Given the description of an element on the screen output the (x, y) to click on. 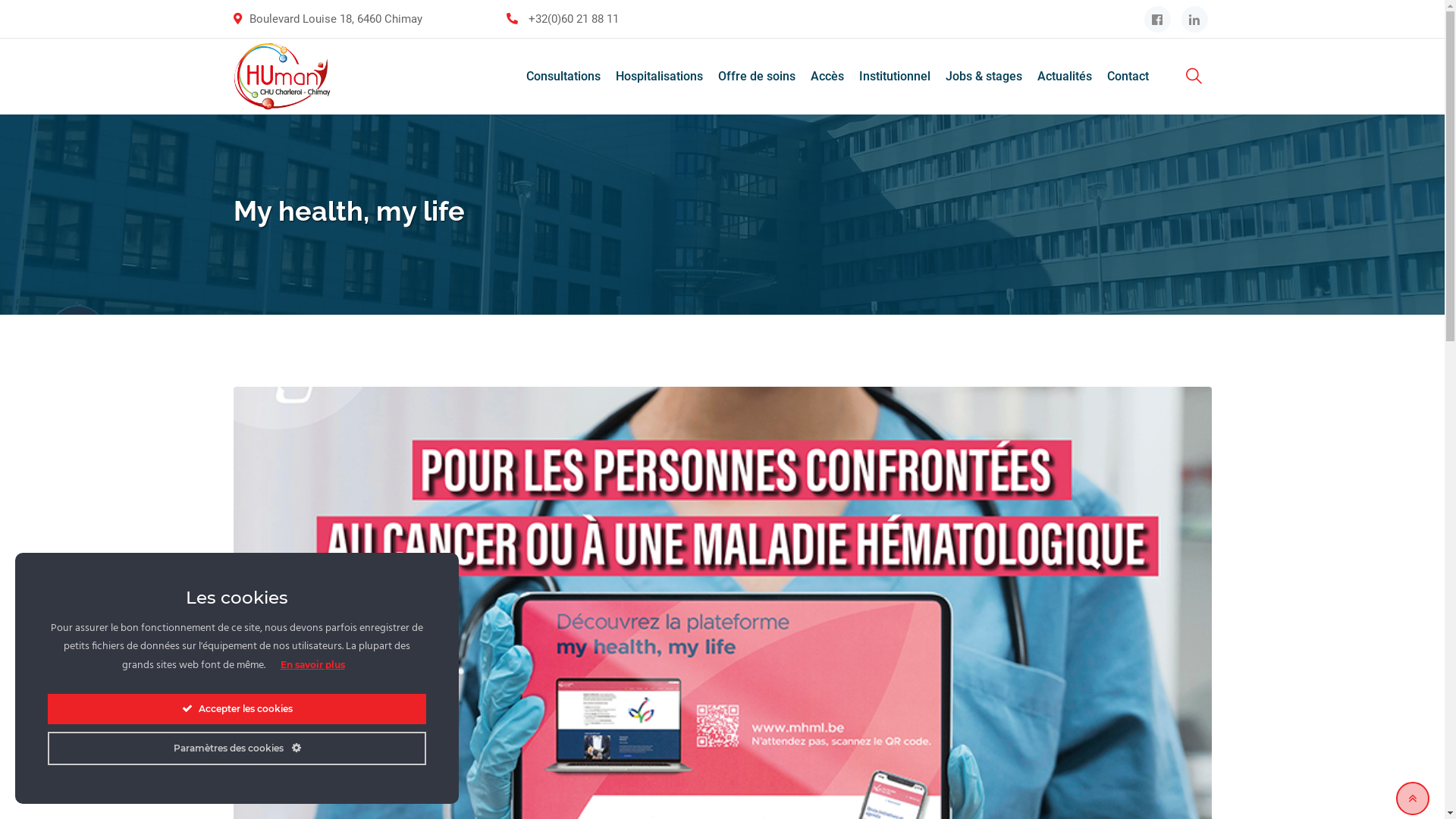
Consultations Element type: text (563, 76)
+32(0)60 21 88 11 Element type: text (572, 18)
Offre de soins Element type: text (755, 76)
Jobs & stages Element type: text (982, 76)
Contact Element type: text (1127, 76)
Institutionnel Element type: text (893, 76)
Hospitalisations Element type: text (659, 76)
